Given the description of an element on the screen output the (x, y) to click on. 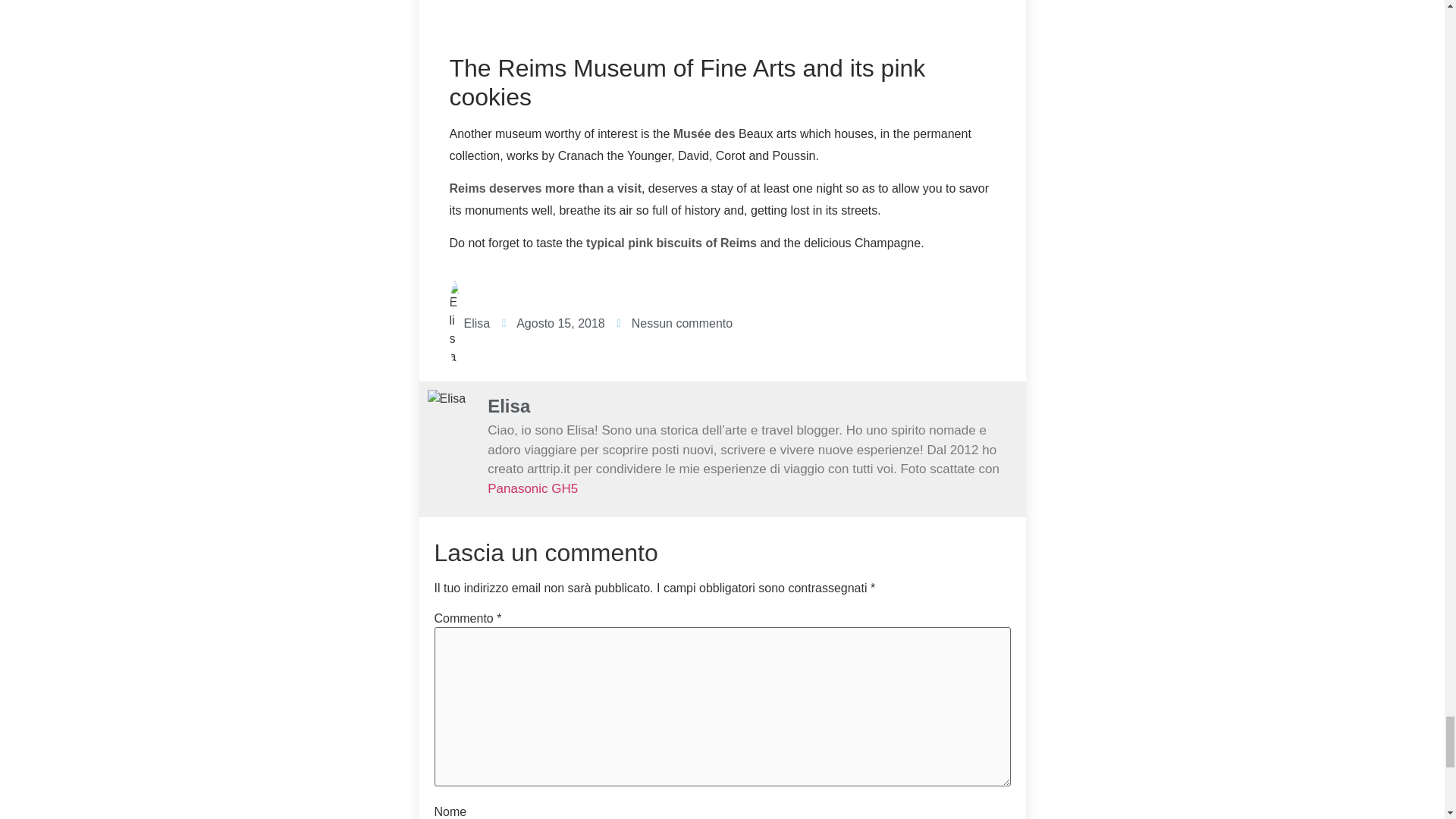
Panasonic GH5 (532, 488)
Agosto 15, 2018 (553, 323)
Nessun commento (674, 323)
